Given the description of an element on the screen output the (x, y) to click on. 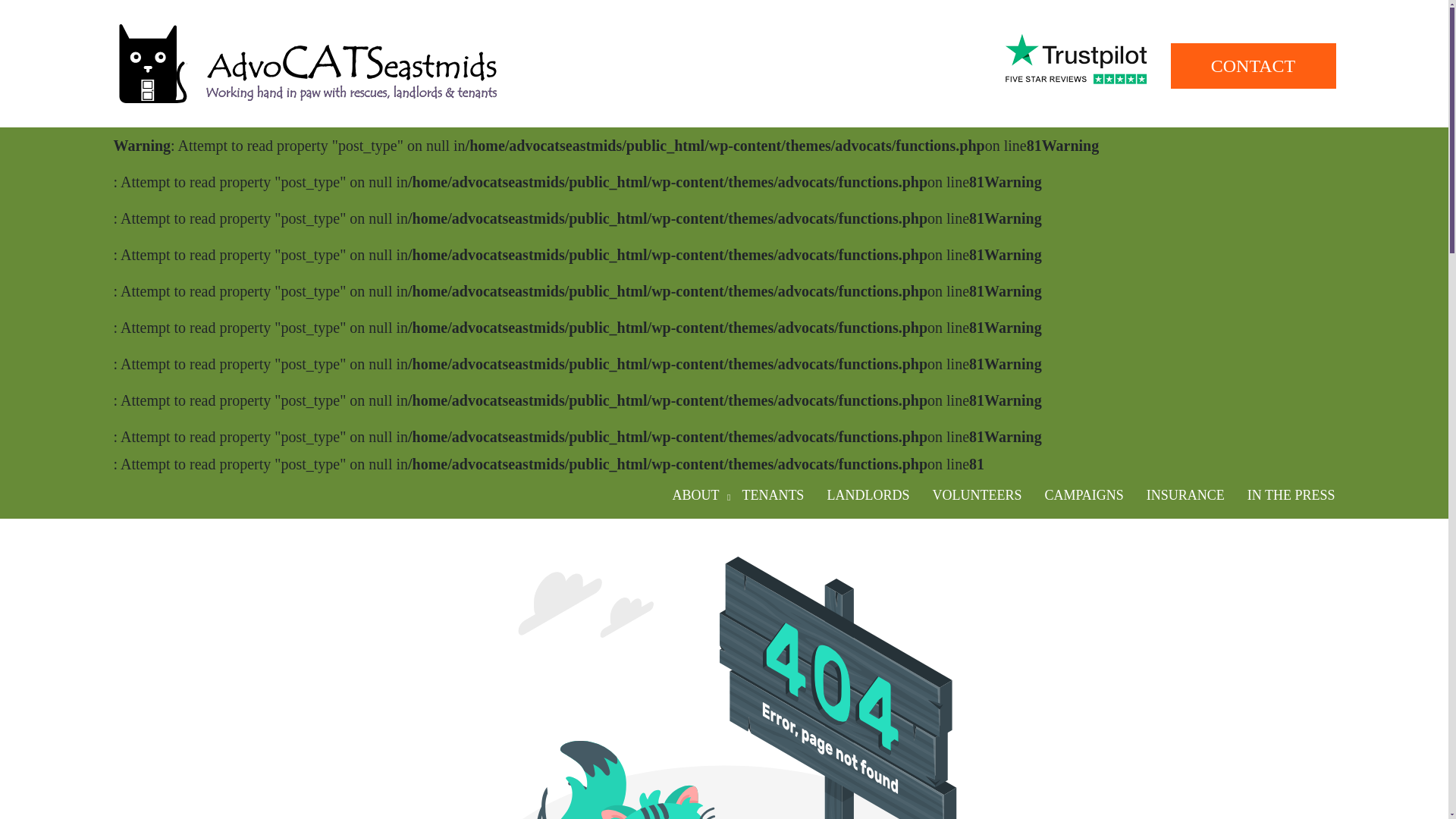
CONTACT (1252, 66)
CAMPAIGNS (1083, 495)
INSURANCE (1185, 495)
LANDLORDS (867, 495)
VOLUNTEERS (976, 495)
IN THE PRESS (1291, 495)
TENANTS (772, 495)
ABOUT (695, 495)
